Given the description of an element on the screen output the (x, y) to click on. 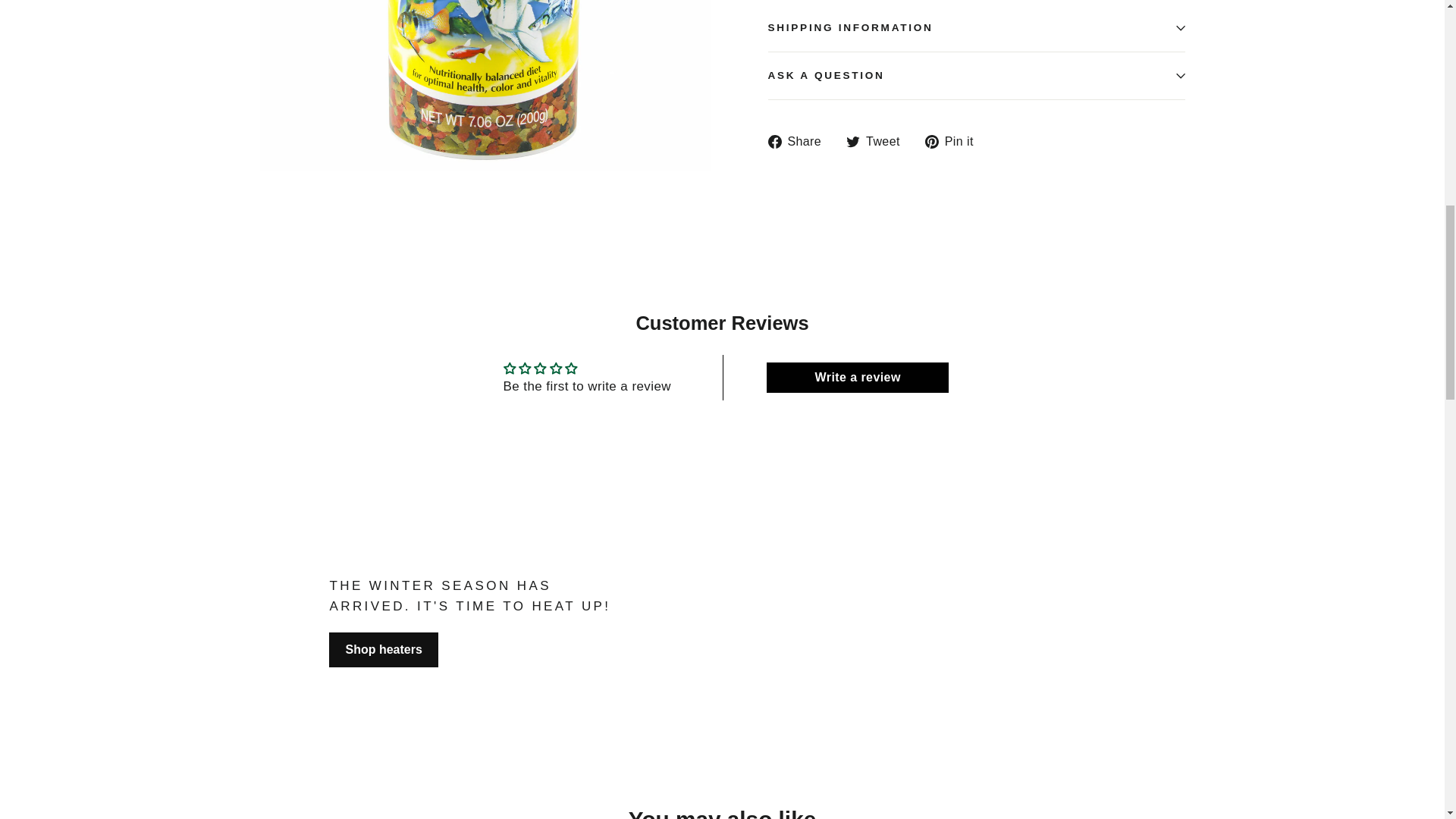
Share on Facebook (799, 141)
Pin on Pinterest (954, 141)
twitter (852, 141)
Tweet on Twitter (878, 141)
